Given the description of an element on the screen output the (x, y) to click on. 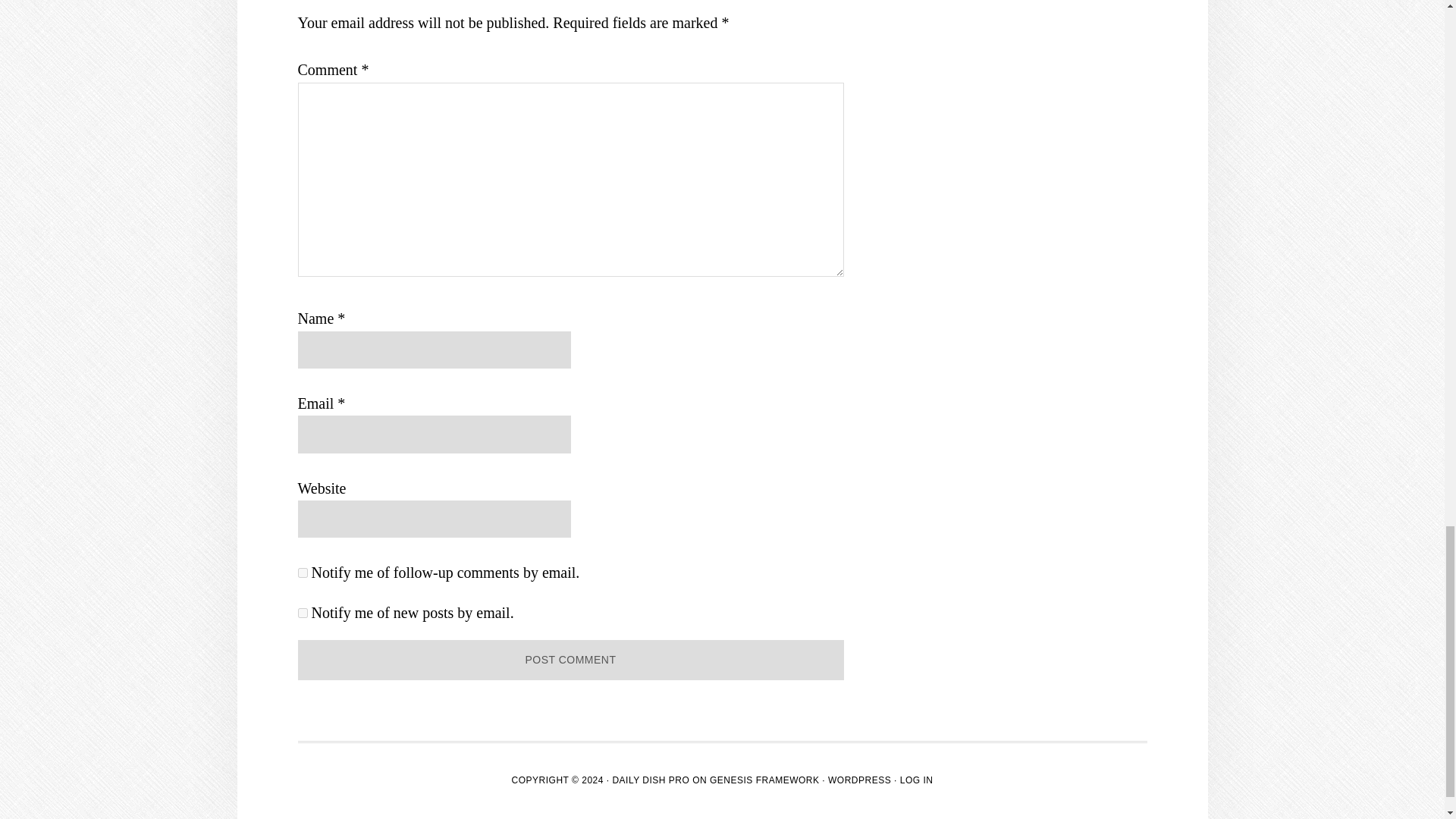
subscribe (302, 573)
Post Comment (570, 659)
subscribe (302, 613)
Post Comment (570, 659)
